Given the description of an element on the screen output the (x, y) to click on. 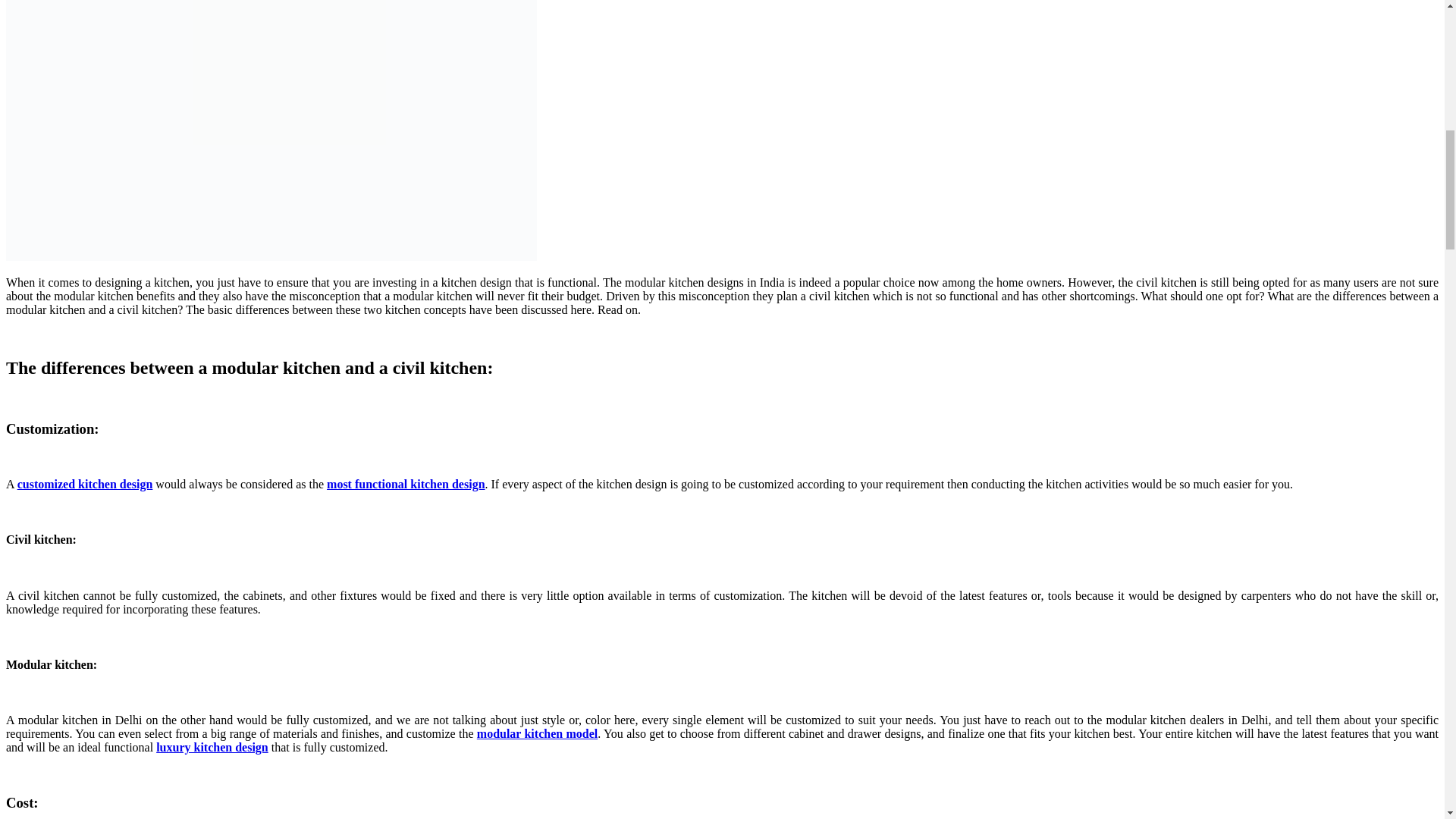
luxury kitchen design (211, 747)
most functional kitchen design (405, 483)
modular kitchen model (536, 733)
customized kitchen design (84, 483)
